Given the description of an element on the screen output the (x, y) to click on. 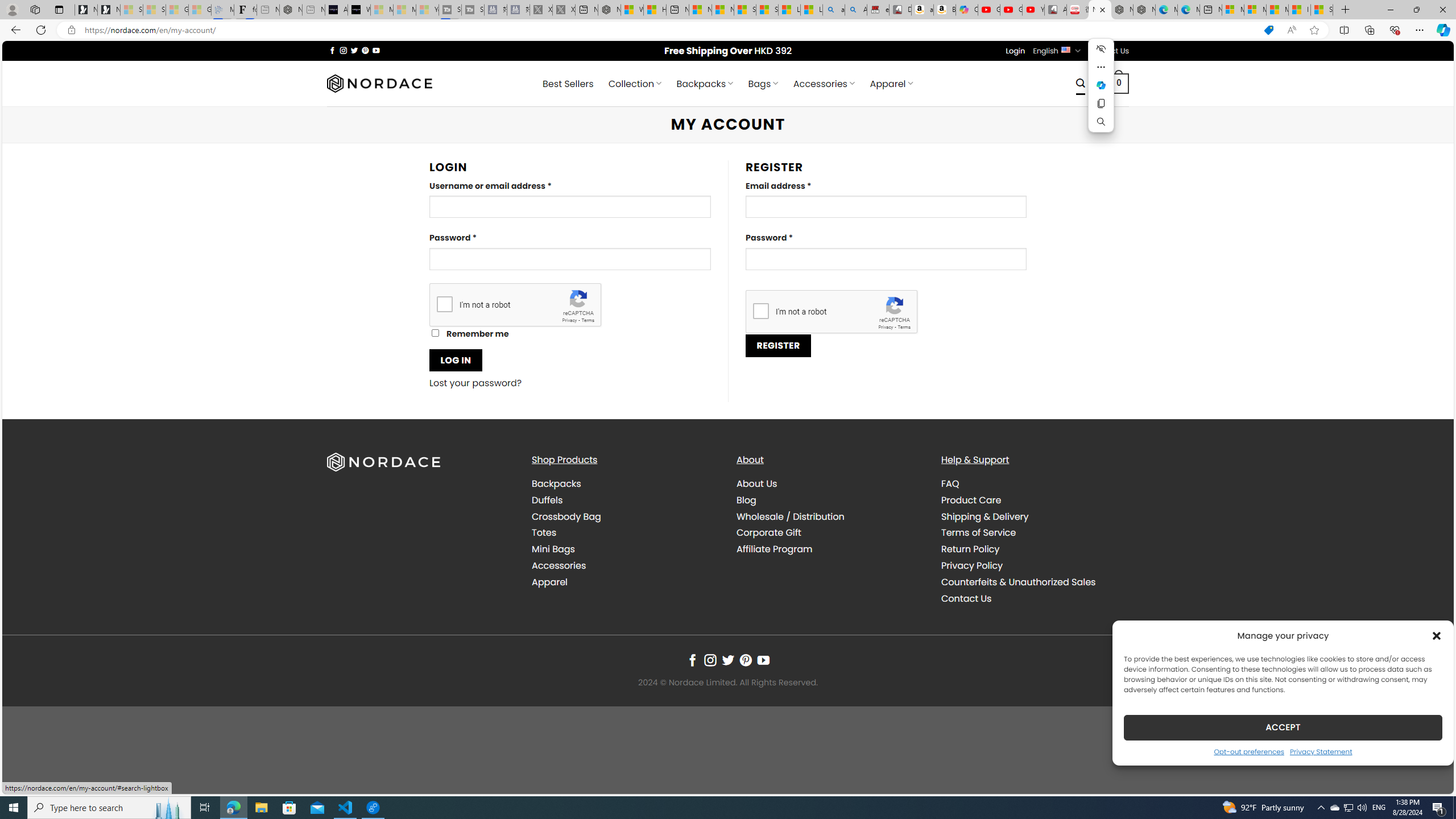
New Tab (1346, 9)
Crossbody Bag (566, 516)
Mini Bags (625, 549)
Backpacks (625, 483)
Contact Us (965, 598)
More actions (1101, 67)
ACCEPT (1283, 727)
Apparel (625, 581)
I'm not a robot (760, 310)
